Given the description of an element on the screen output the (x, y) to click on. 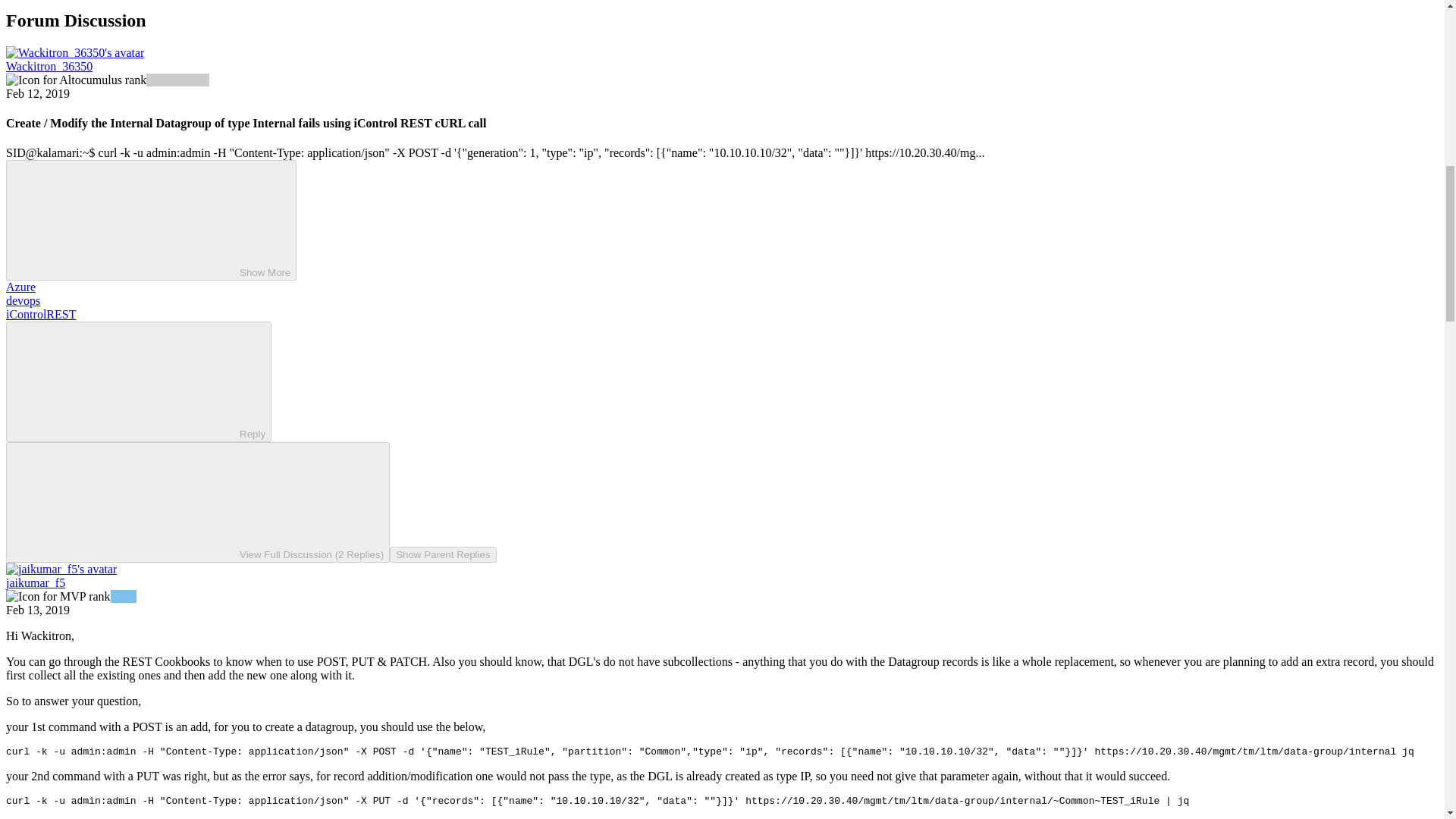
Azure (19, 286)
February 13, 2019 at 1:31 PM (37, 609)
iControlREST (40, 314)
Show Parent Replies (443, 554)
devops (22, 300)
ReplyReply (137, 381)
Reply (125, 380)
February 12, 2019 at 7:58 PM (37, 92)
Show More (151, 219)
